Given the description of an element on the screen output the (x, y) to click on. 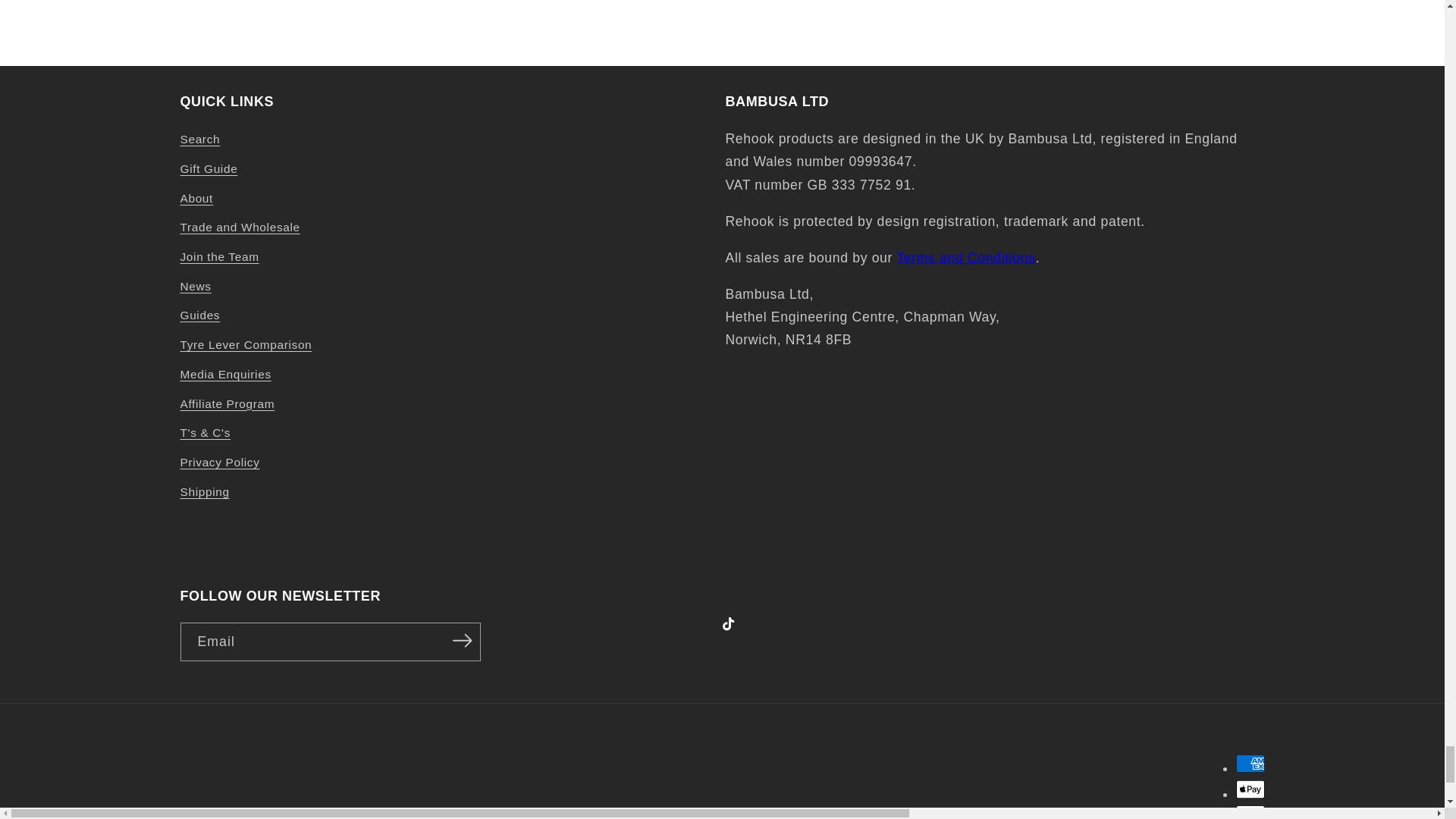
Apple Pay (1250, 789)
American Express (1250, 763)
Diners Club (1250, 812)
Terms of Service (965, 257)
